Given the description of an element on the screen output the (x, y) to click on. 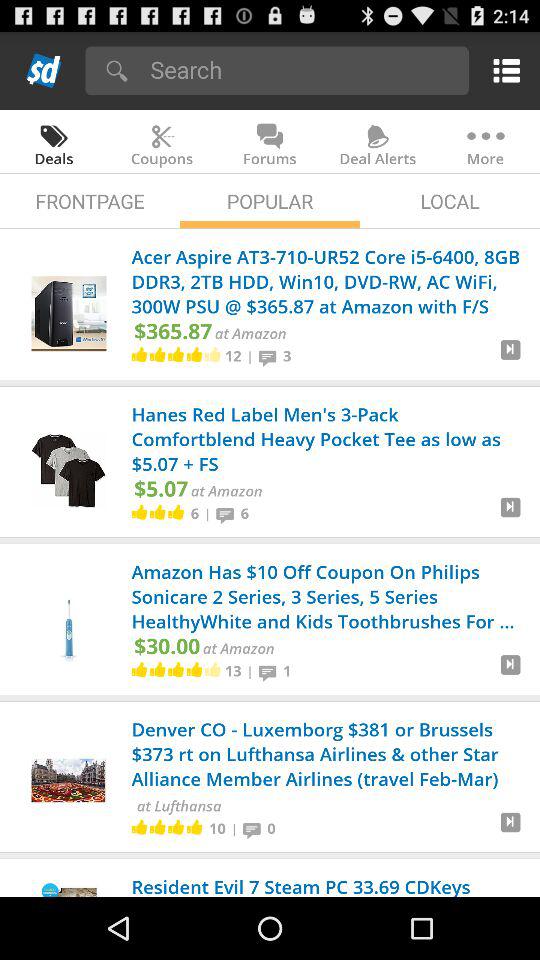
go to item information (510, 515)
